Given the description of an element on the screen output the (x, y) to click on. 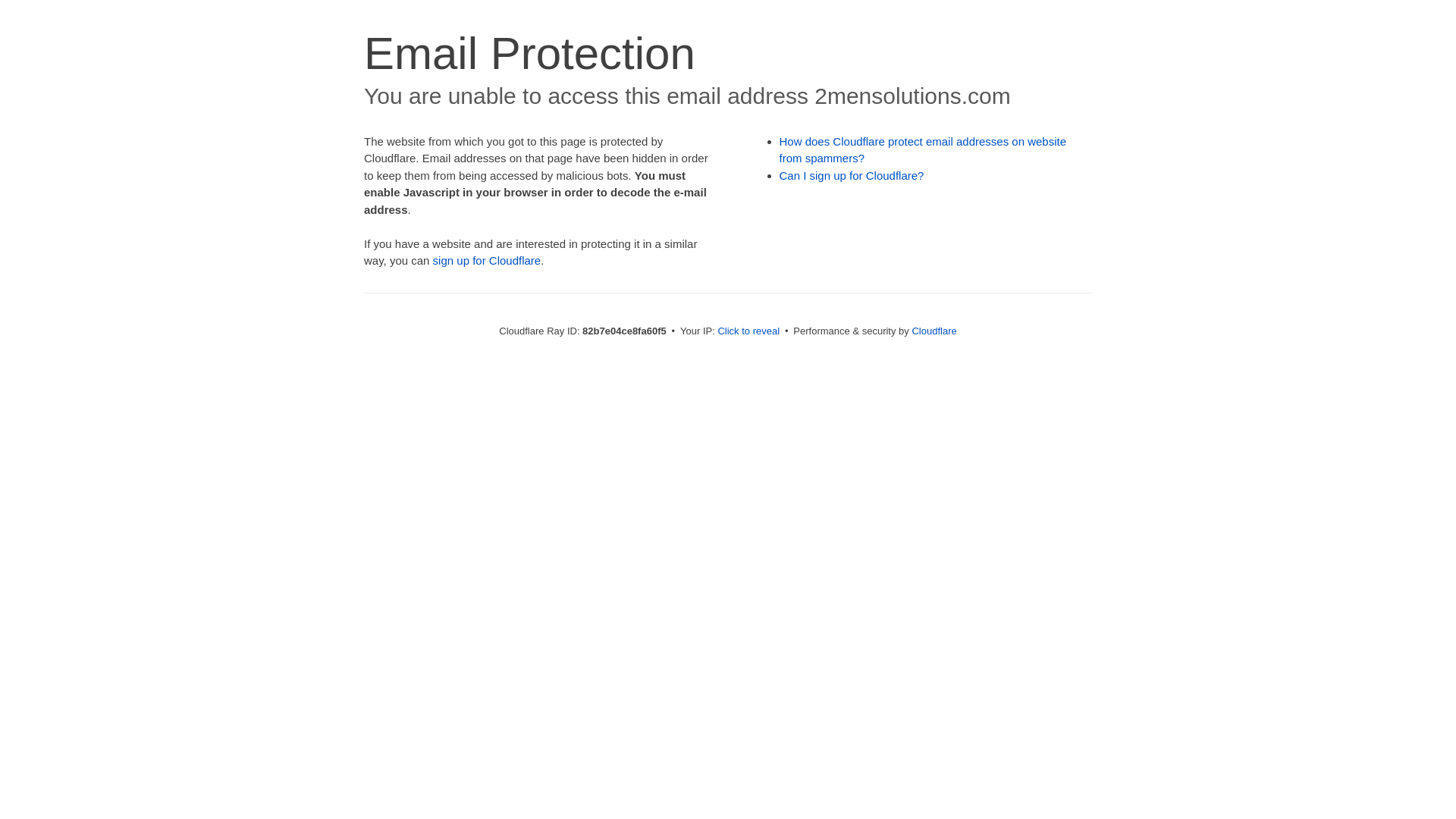
sign up for Cloudflare Element type: text (487, 260)
Click to reveal Element type: text (748, 330)
Cloudflare Element type: text (933, 330)
Can I sign up for Cloudflare? Element type: text (851, 175)
